Given the description of an element on the screen output the (x, y) to click on. 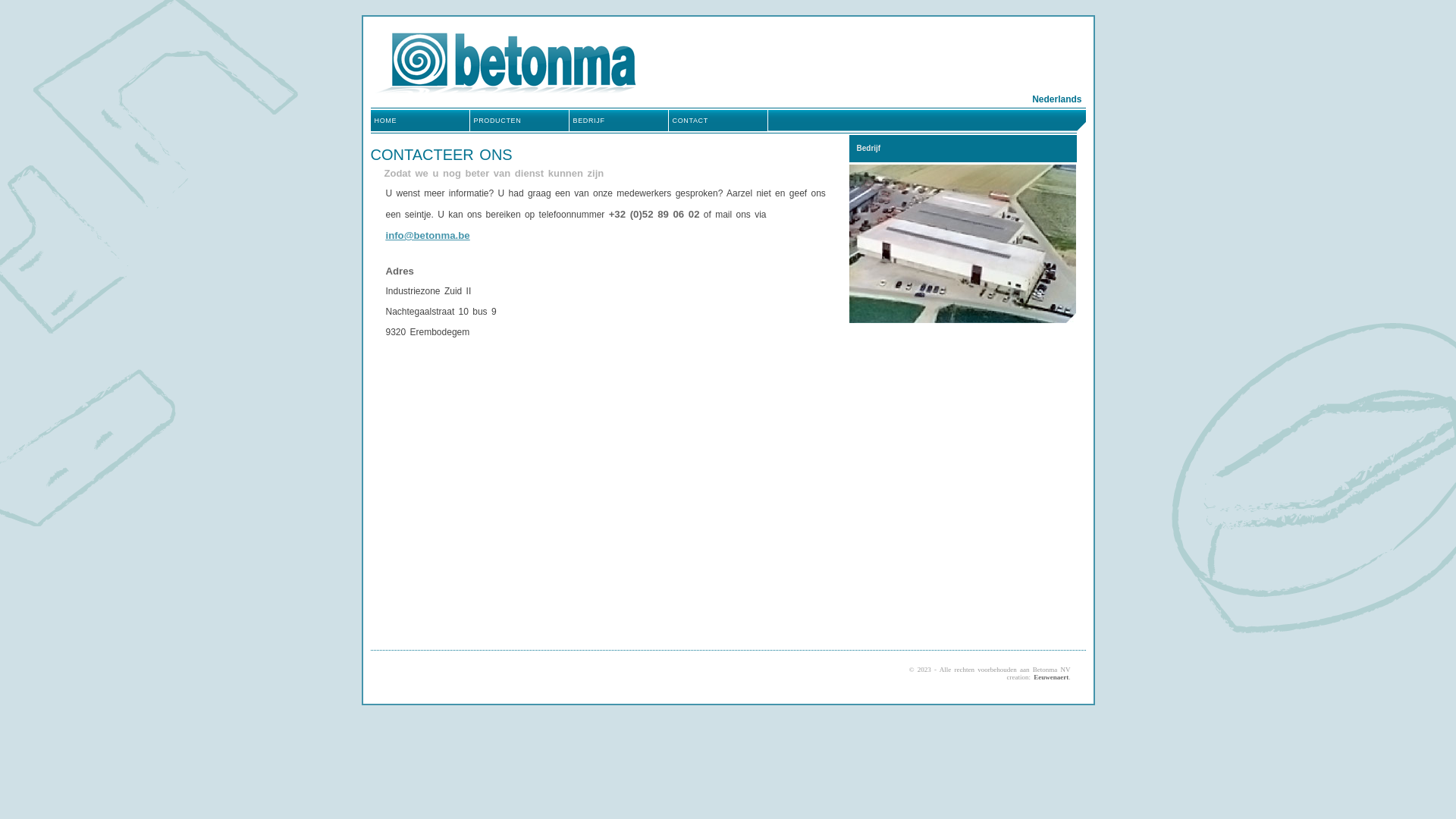
Nederlands Element type: text (1056, 99)
Eeuwenaert Element type: text (1050, 676)
bedrijf Element type: text (618, 120)
contact Element type: text (718, 120)
Betonma N.V./S.A - Betonmachines Element type: hover (502, 62)
info@betonma.be Element type: text (427, 235)
home Element type: text (419, 120)
producten Element type: text (519, 120)
info@betonma.be Element type: text (427, 235)
